Given the description of an element on the screen output the (x, y) to click on. 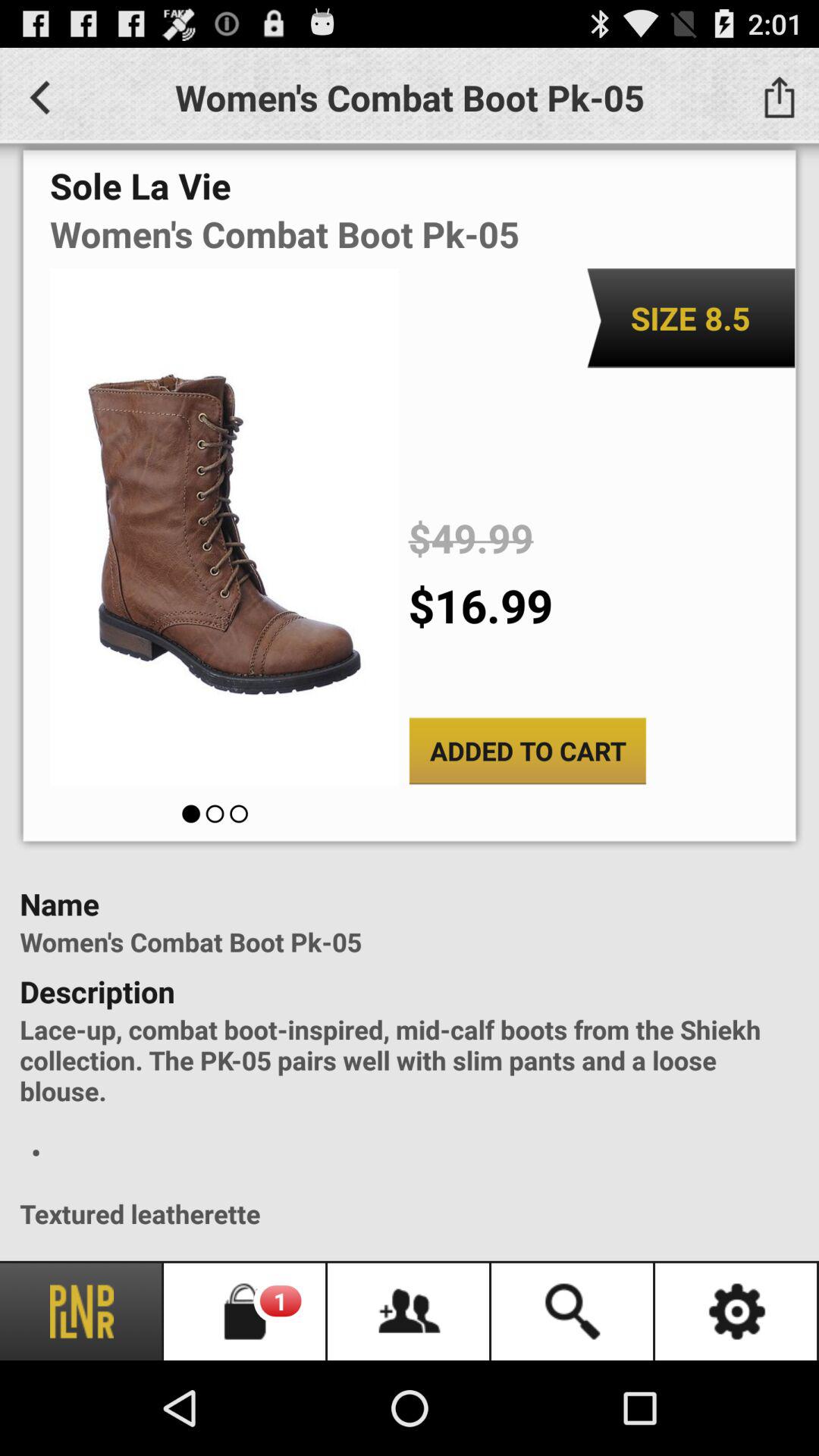
tap icon below the $16.99 item (527, 751)
